Given the description of an element on the screen output the (x, y) to click on. 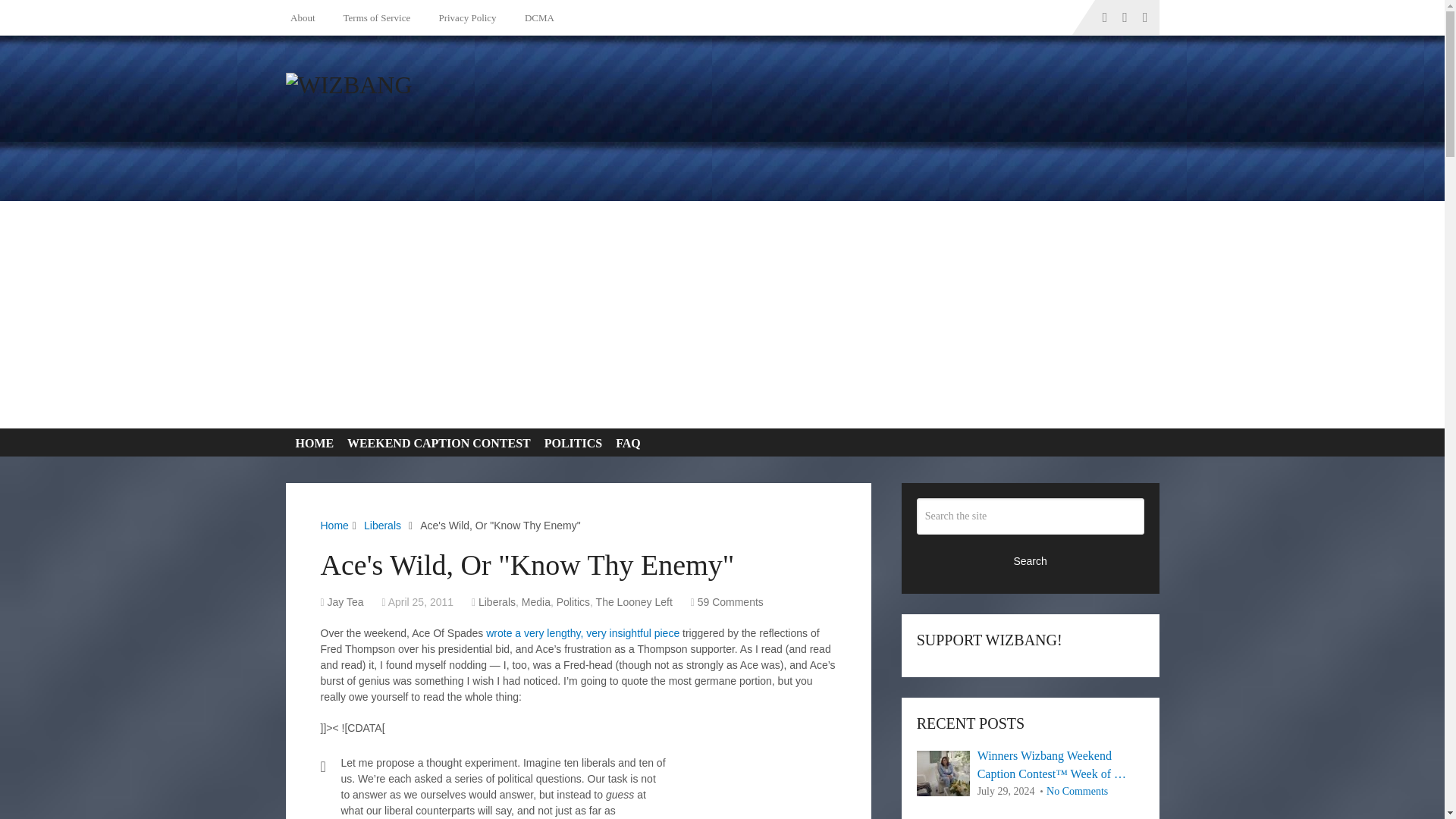
View all posts in Liberals (497, 602)
Media (535, 602)
Jay Tea (345, 602)
Posts by Jay Tea (345, 602)
Privacy Policy (464, 17)
View all posts in The Looney Left (633, 602)
View all posts in Politics (572, 602)
Liberals (382, 525)
HOME (311, 443)
Liberals (497, 602)
wrote a very lengthy, very insightful piece (582, 633)
The Looney Left (633, 602)
Home (333, 525)
Terms of Service (374, 17)
POLITICS (569, 443)
